Given the description of an element on the screen output the (x, y) to click on. 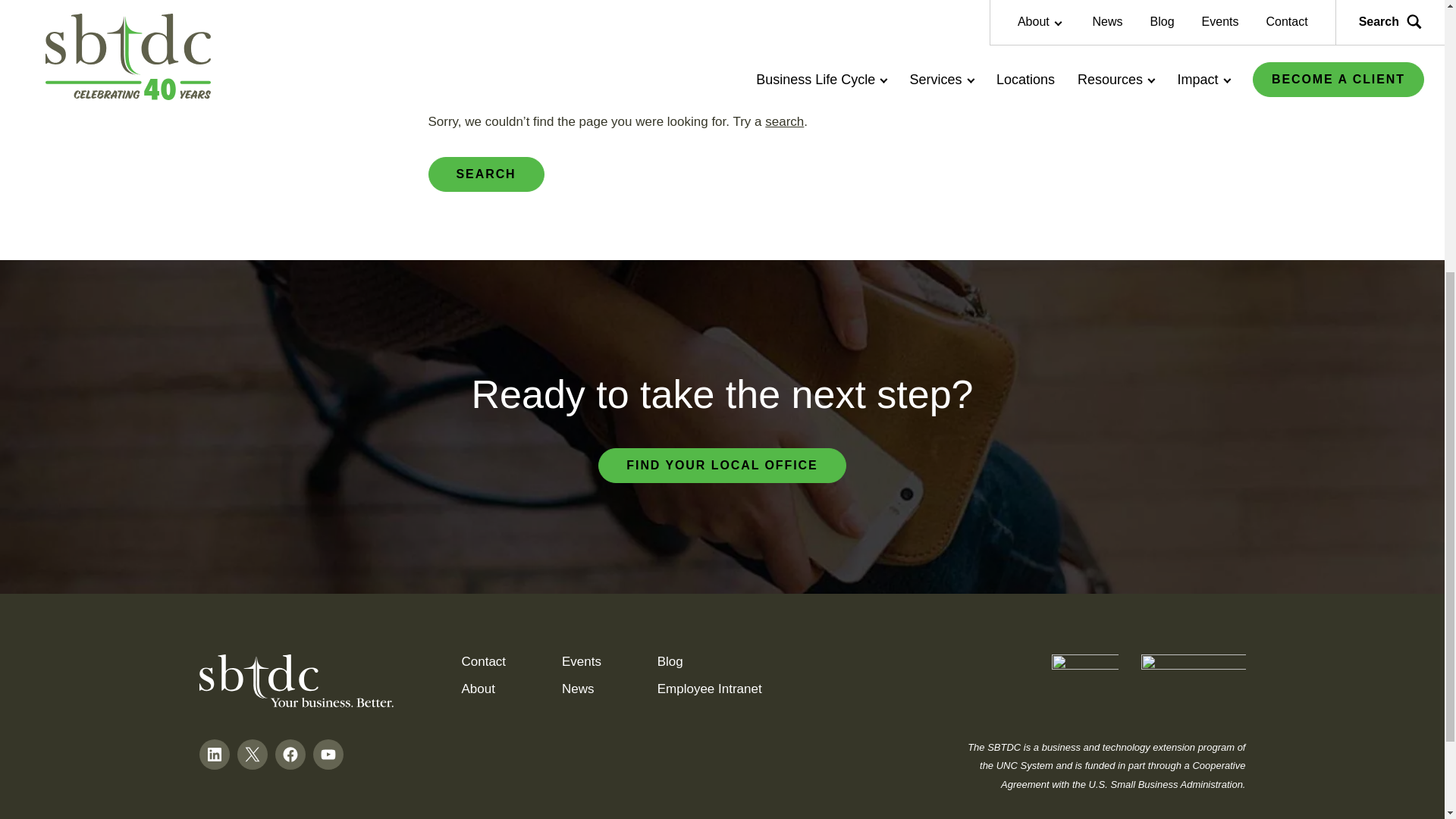
facebook (290, 753)
youtube (328, 753)
linkedin (214, 753)
